Given the description of an element on the screen output the (x, y) to click on. 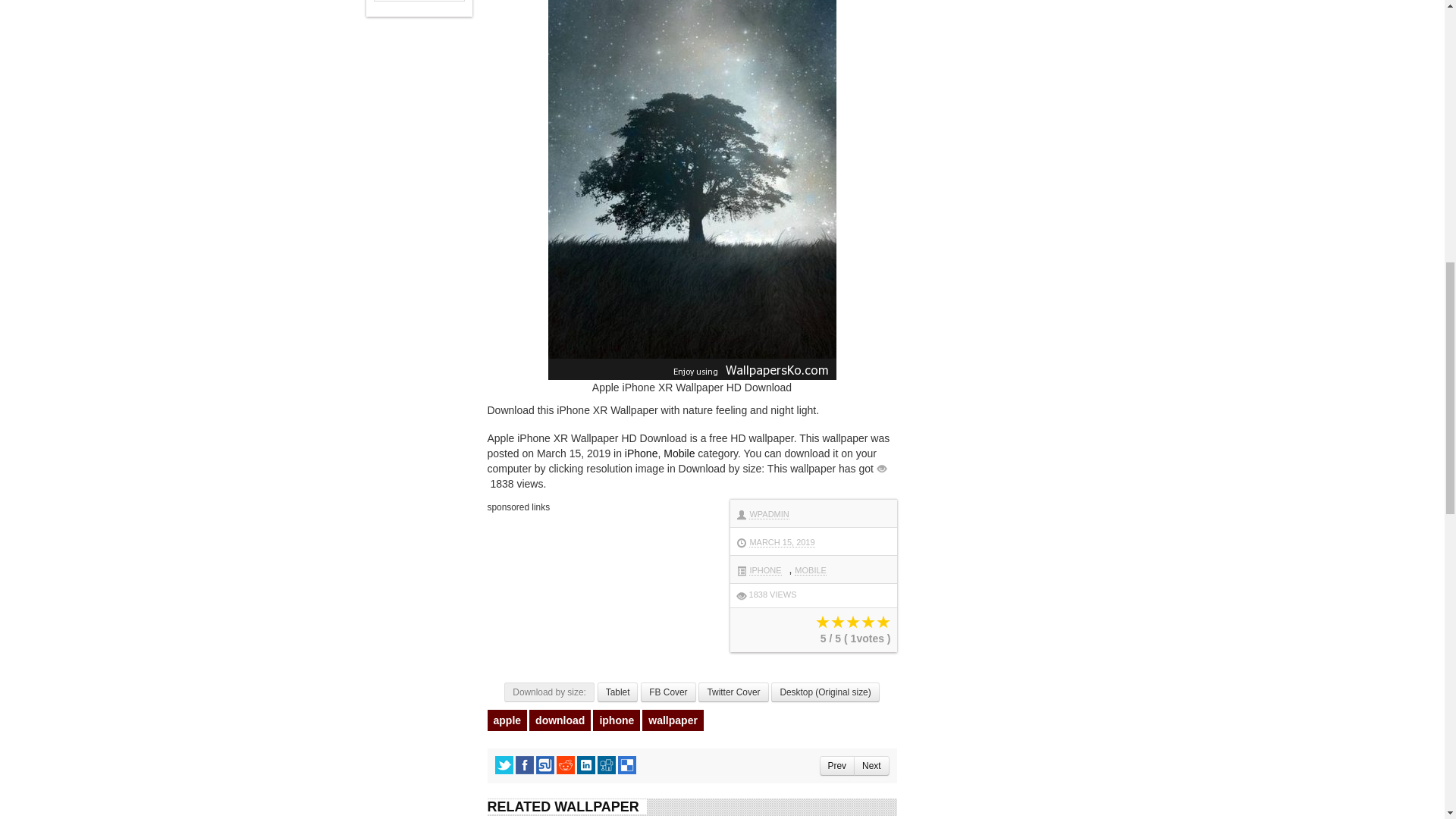
9:40 am (781, 542)
Apple iPhone XR Wallpaper HD Download (617, 691)
Apple iPhone XR Wallpaper HD Download (667, 691)
View all posts by wpadmin (769, 514)
